Given the description of an element on the screen output the (x, y) to click on. 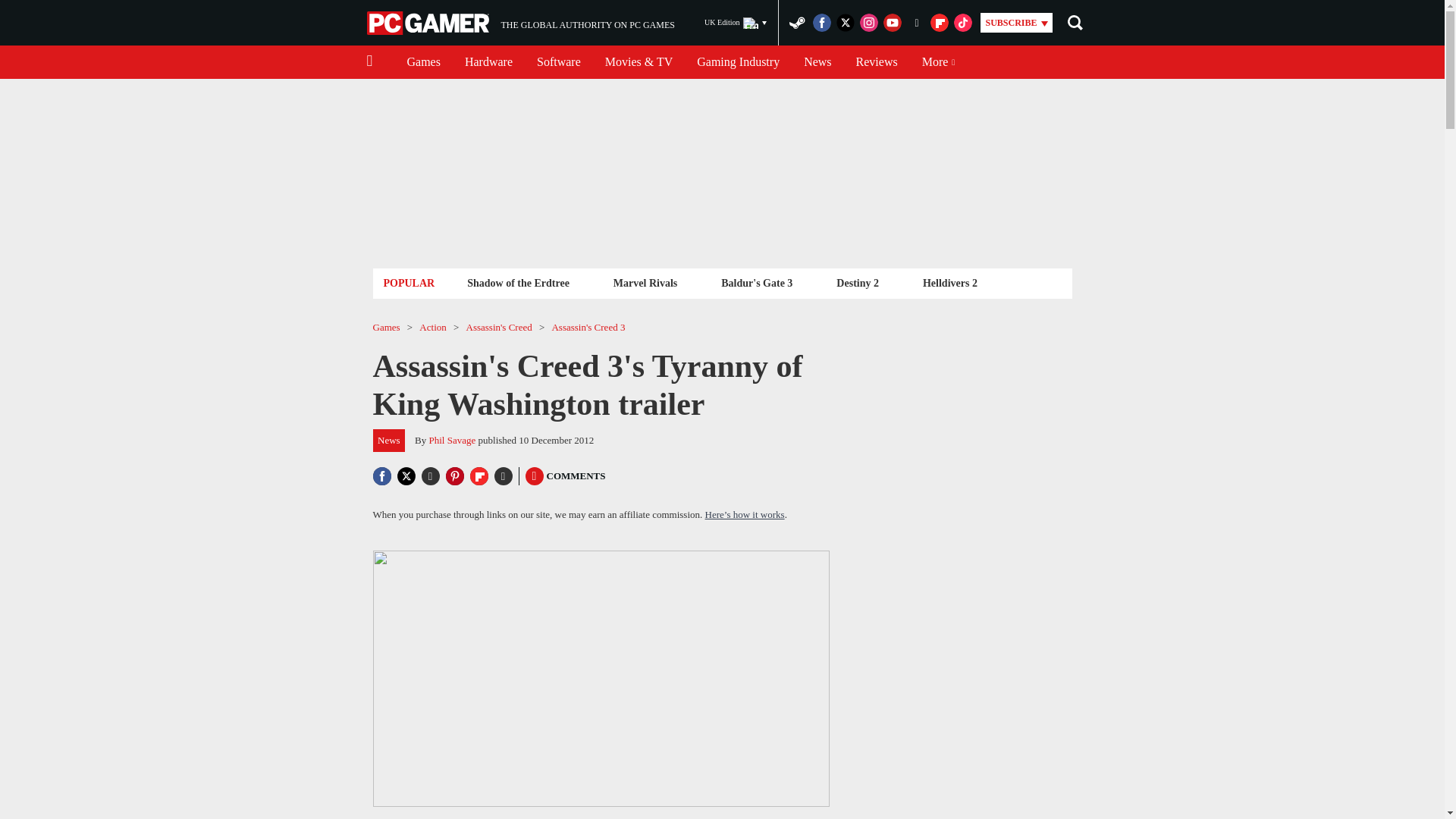
Reviews (877, 61)
Marvel Rivals (645, 282)
Software (558, 61)
PC Gamer (429, 22)
UK Edition (735, 22)
Games (520, 22)
Hardware (422, 61)
News (488, 61)
Shadow of the Erdtree (817, 61)
Gaming Industry (518, 282)
